Given the description of an element on the screen output the (x, y) to click on. 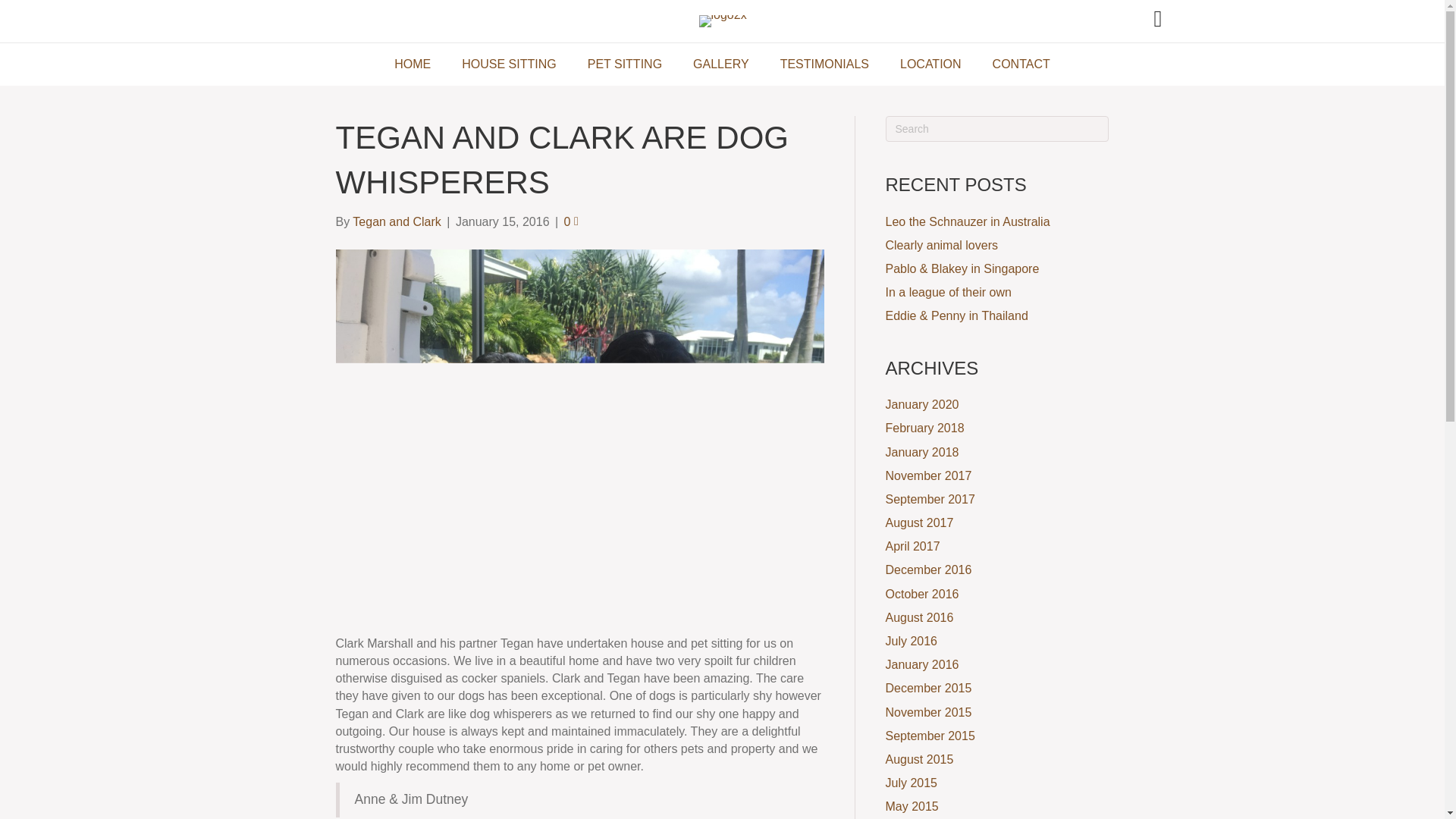
September 2017 (930, 499)
January 2016 (922, 664)
November 2015 (928, 712)
October 2016 (922, 594)
February 2018 (924, 427)
GALLERY (721, 64)
August 2017 (919, 522)
Leo the Schnauzer in Australia (967, 221)
HOUSE SITTING (508, 64)
December 2015 (928, 687)
April 2017 (912, 545)
CONTACT (1020, 64)
July 2016 (911, 640)
0 (571, 221)
Type and press Enter to search. (997, 128)
